Given the description of an element on the screen output the (x, y) to click on. 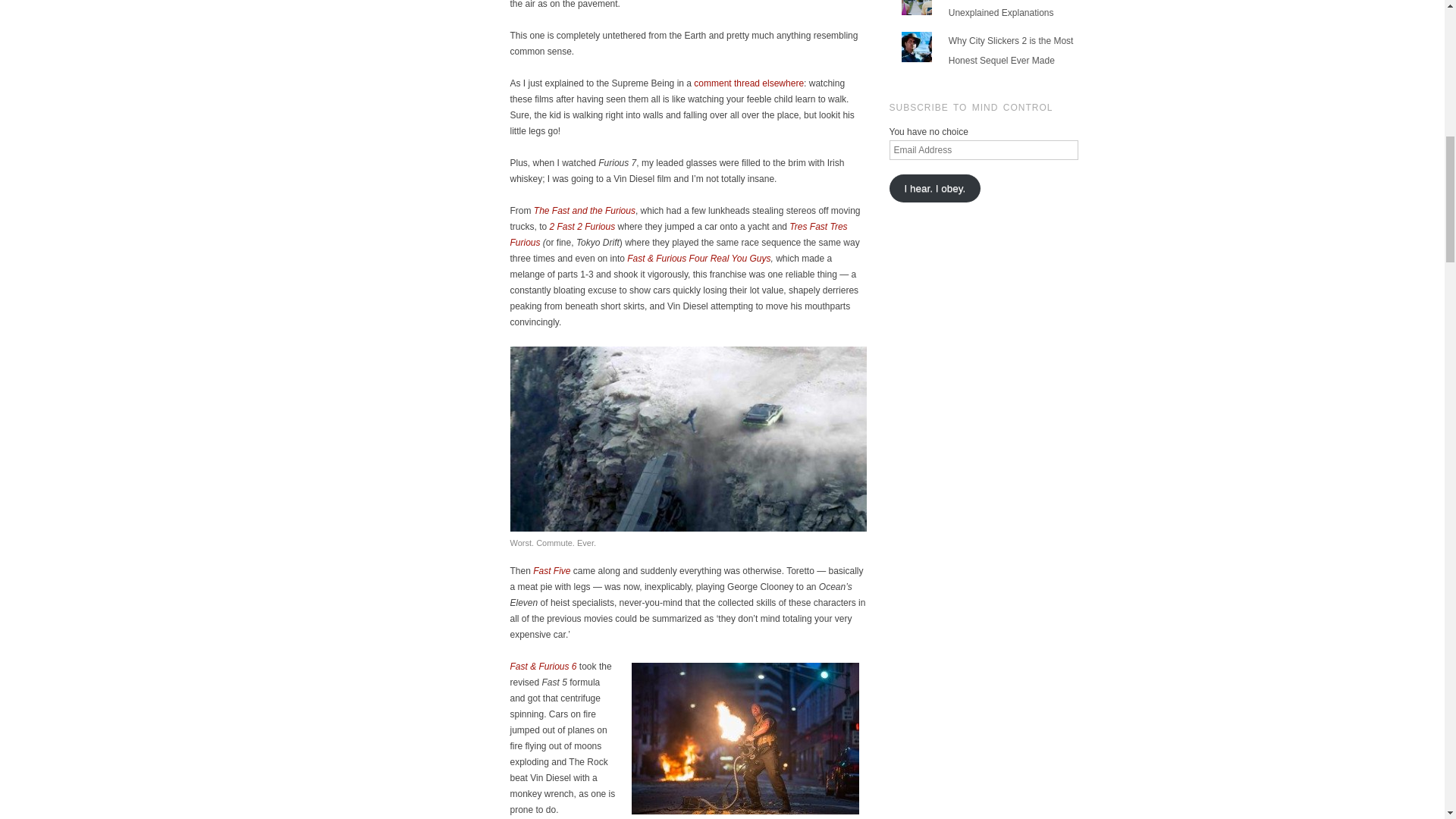
comment thread elsewhere (748, 82)
2 Fast 2 Furious (582, 226)
Fast Five in Overdrive (748, 82)
The Fast and the Furious (584, 210)
Tres Fast Tres Furious (678, 234)
Fast Five in Overdrive (551, 570)
Fast Five (551, 570)
